Given the description of an element on the screen output the (x, y) to click on. 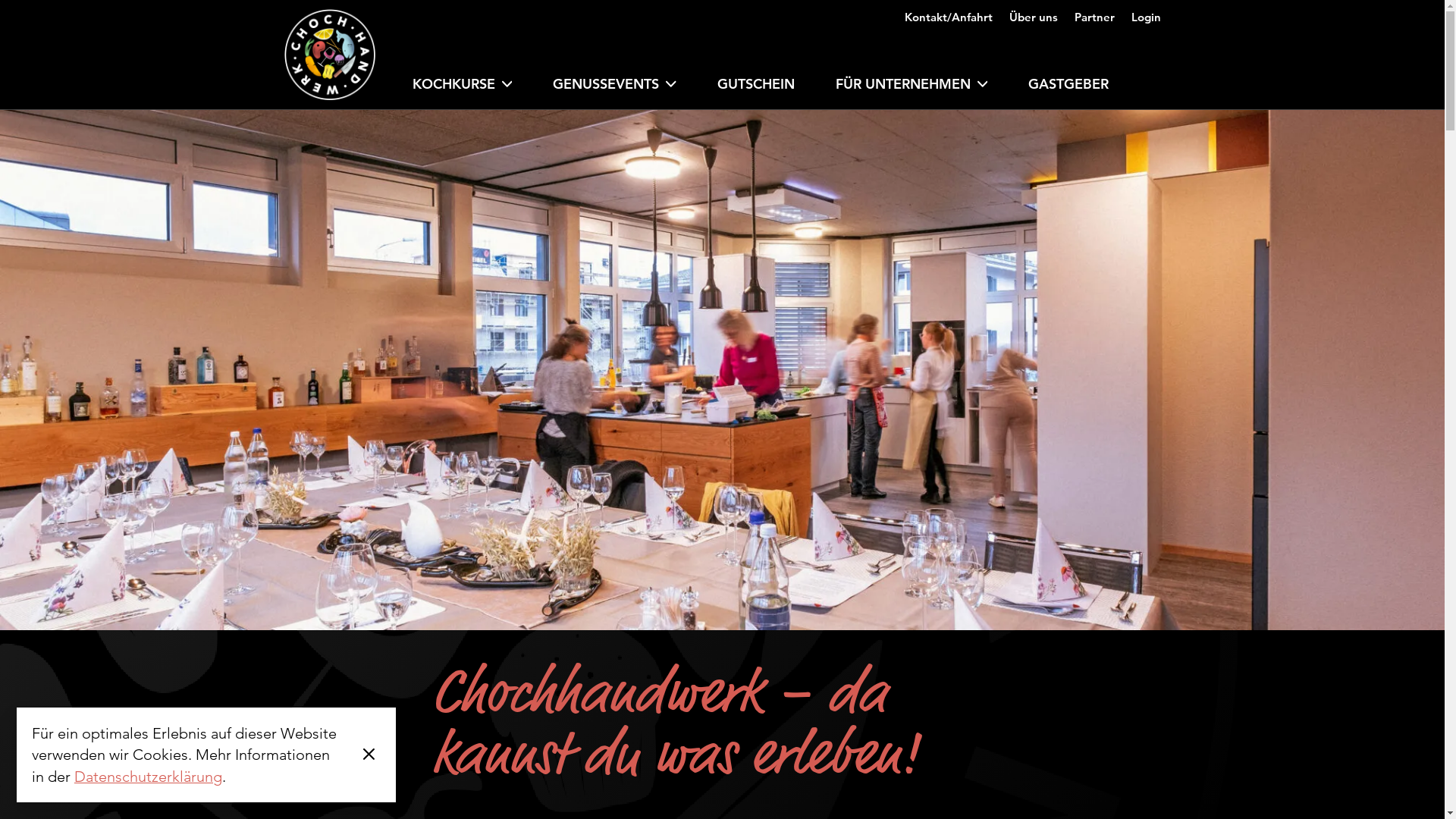
GENUSSEVENTS Element type: text (614, 89)
Schliessen Element type: text (368, 754)
GUTSCHEIN Element type: text (754, 89)
Login Element type: text (1146, 12)
Partner Element type: text (1093, 12)
Kontakt/Anfahrt Element type: text (947, 12)
GASTGEBER Element type: text (1068, 89)
KOCHKURSE Element type: text (461, 89)
